Given the description of an element on the screen output the (x, y) to click on. 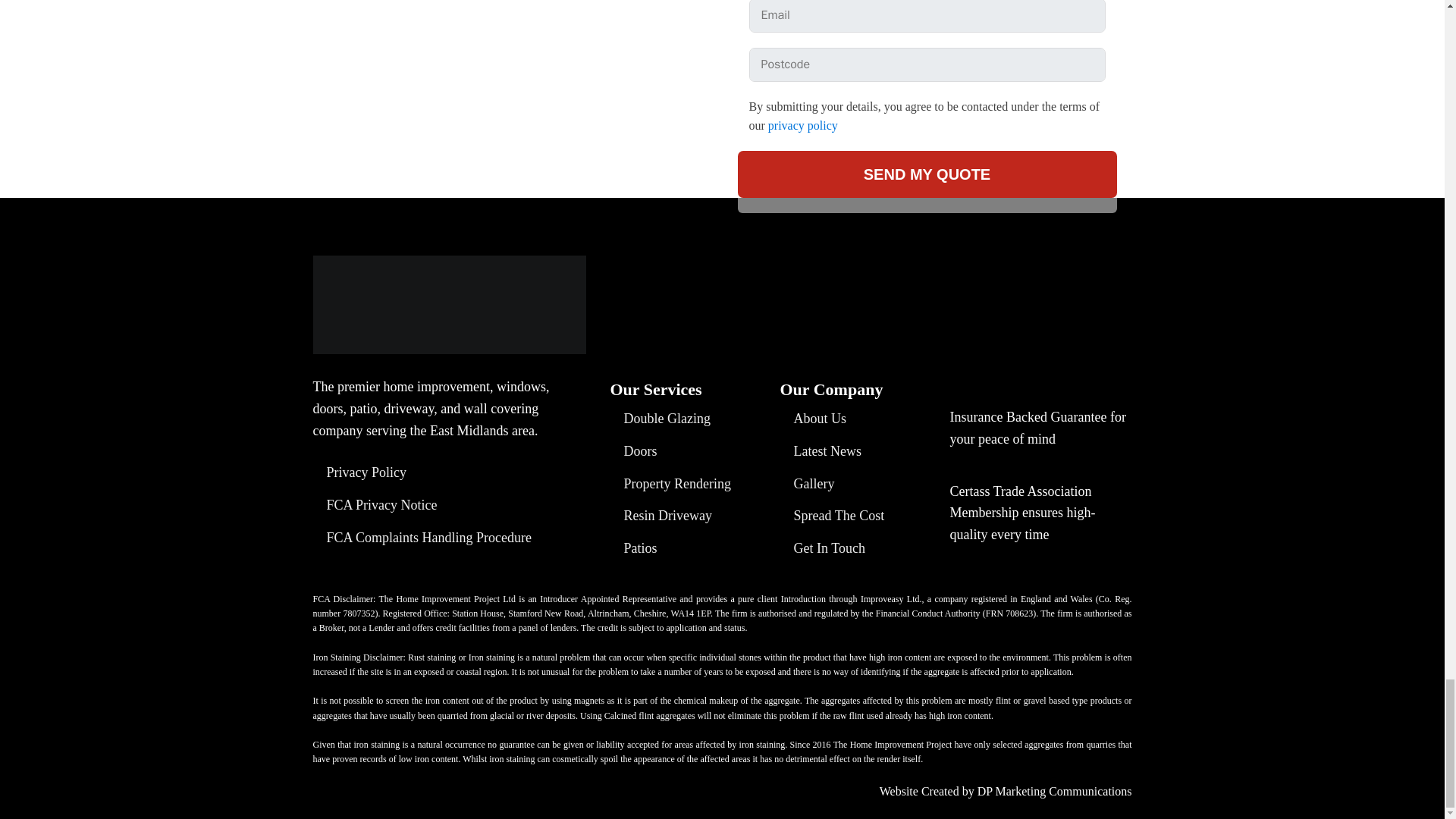
Property Rendering (670, 483)
SEND MY QUOTE (926, 174)
FCA Complaints Handling Procedure (422, 537)
FCA Privacy Notice (374, 504)
Doors (633, 450)
privacy policy (803, 124)
Resin Driveway (660, 515)
Privacy Policy (359, 472)
Double Glazing (660, 418)
